Given the description of an element on the screen output the (x, y) to click on. 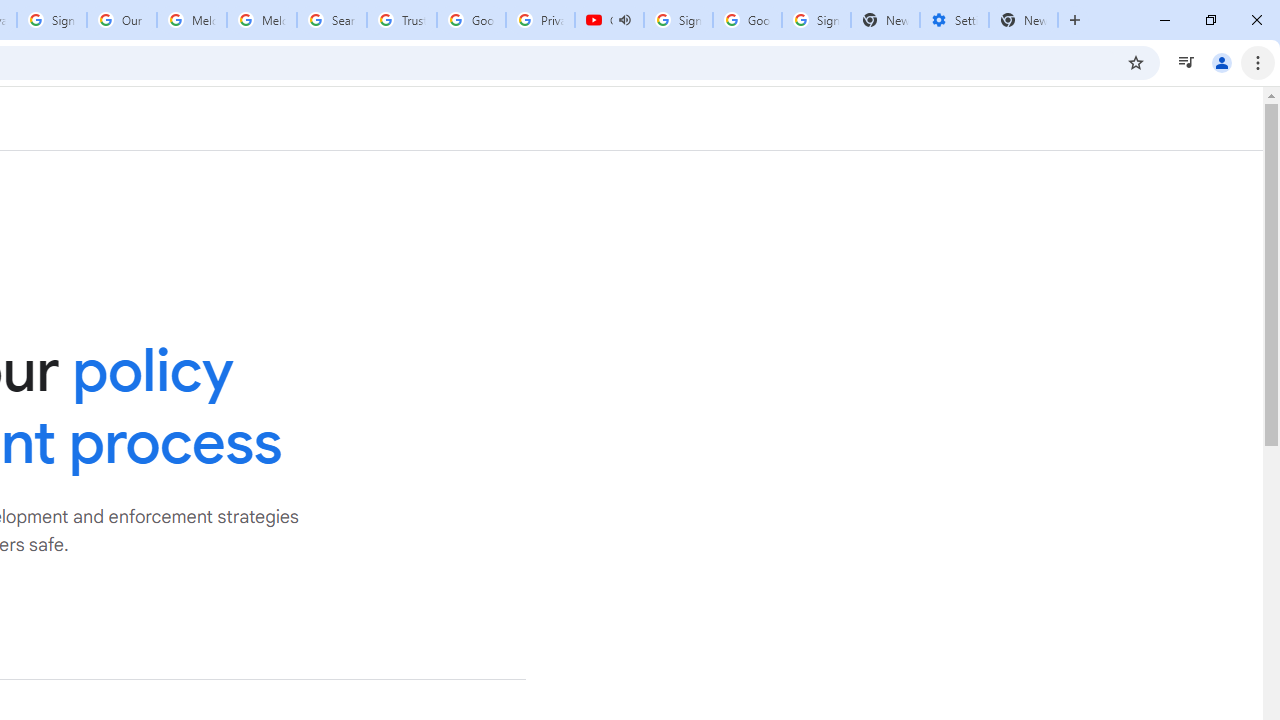
Sign in - Google Accounts (816, 20)
Google Ads - Sign in (470, 20)
New Tab (1023, 20)
Trusted Information and Content - Google Safety Center (401, 20)
